Given the description of an element on the screen output the (x, y) to click on. 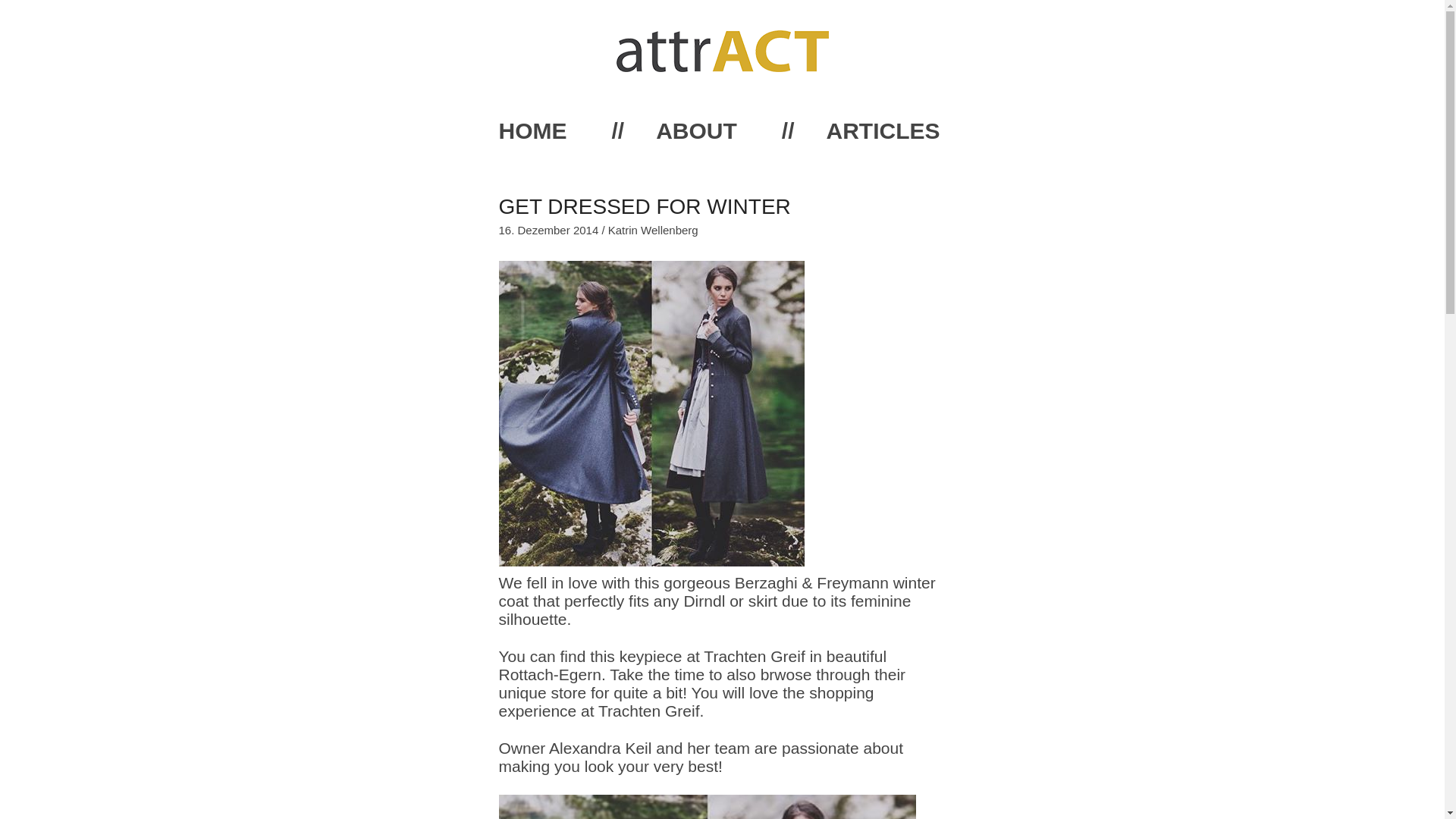
ABOUT (696, 130)
HOME (533, 130)
ARTICLES (883, 130)
PR und Marketing Beratung Muenchen (721, 66)
